Given the description of an element on the screen output the (x, y) to click on. 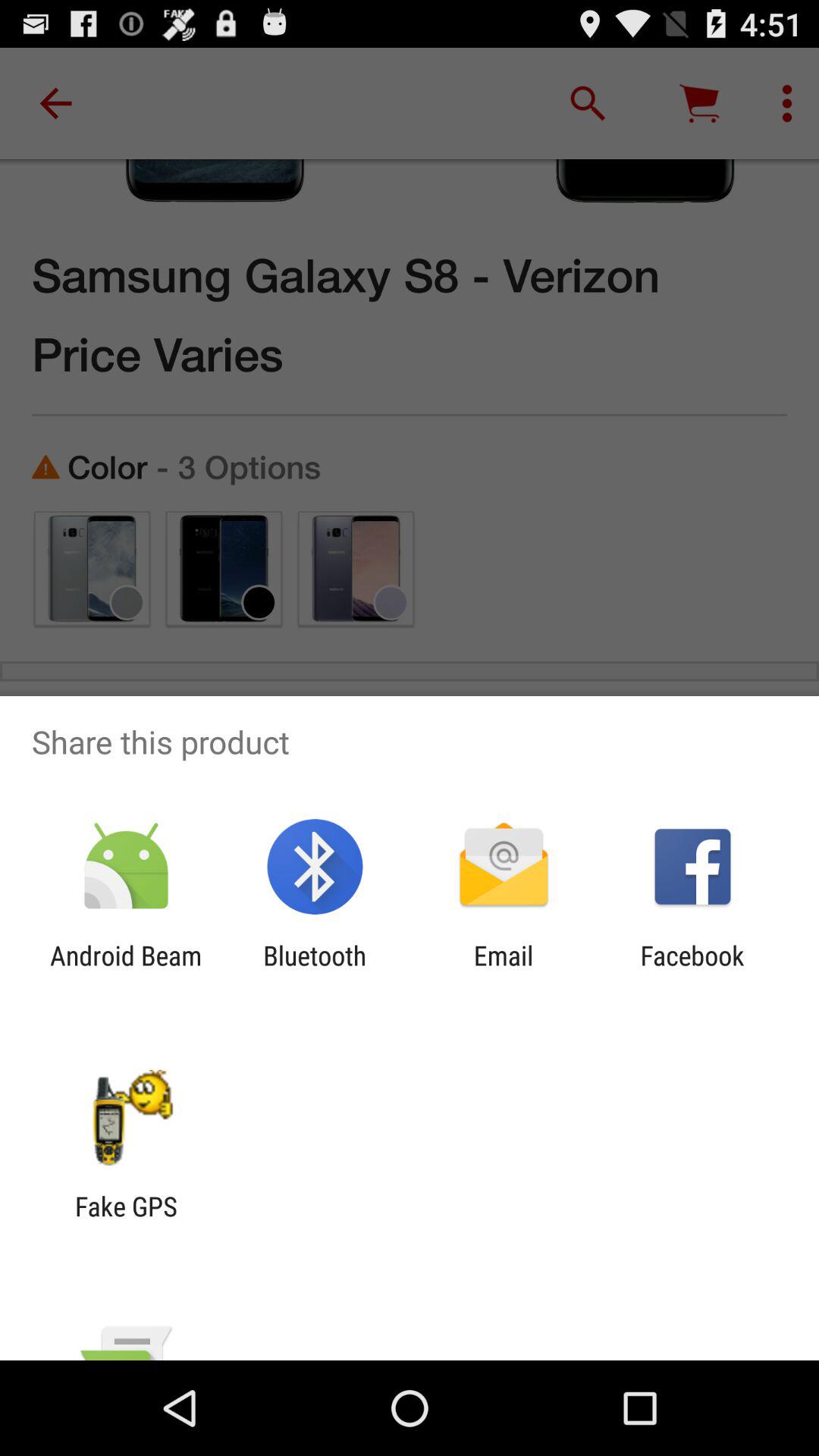
choose icon to the left of the facebook (503, 971)
